Given the description of an element on the screen output the (x, y) to click on. 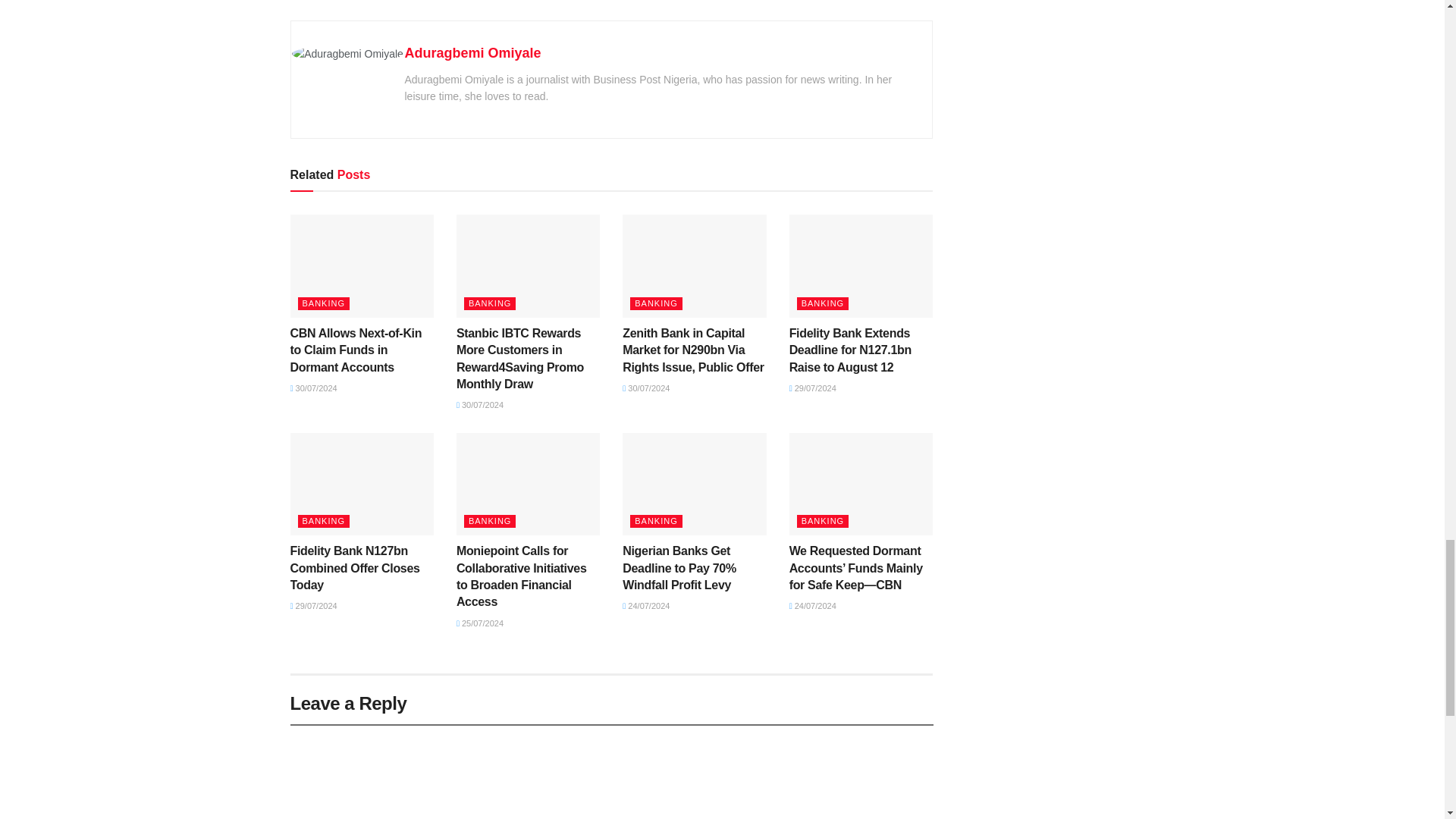
Comment Form (611, 771)
